Given the description of an element on the screen output the (x, y) to click on. 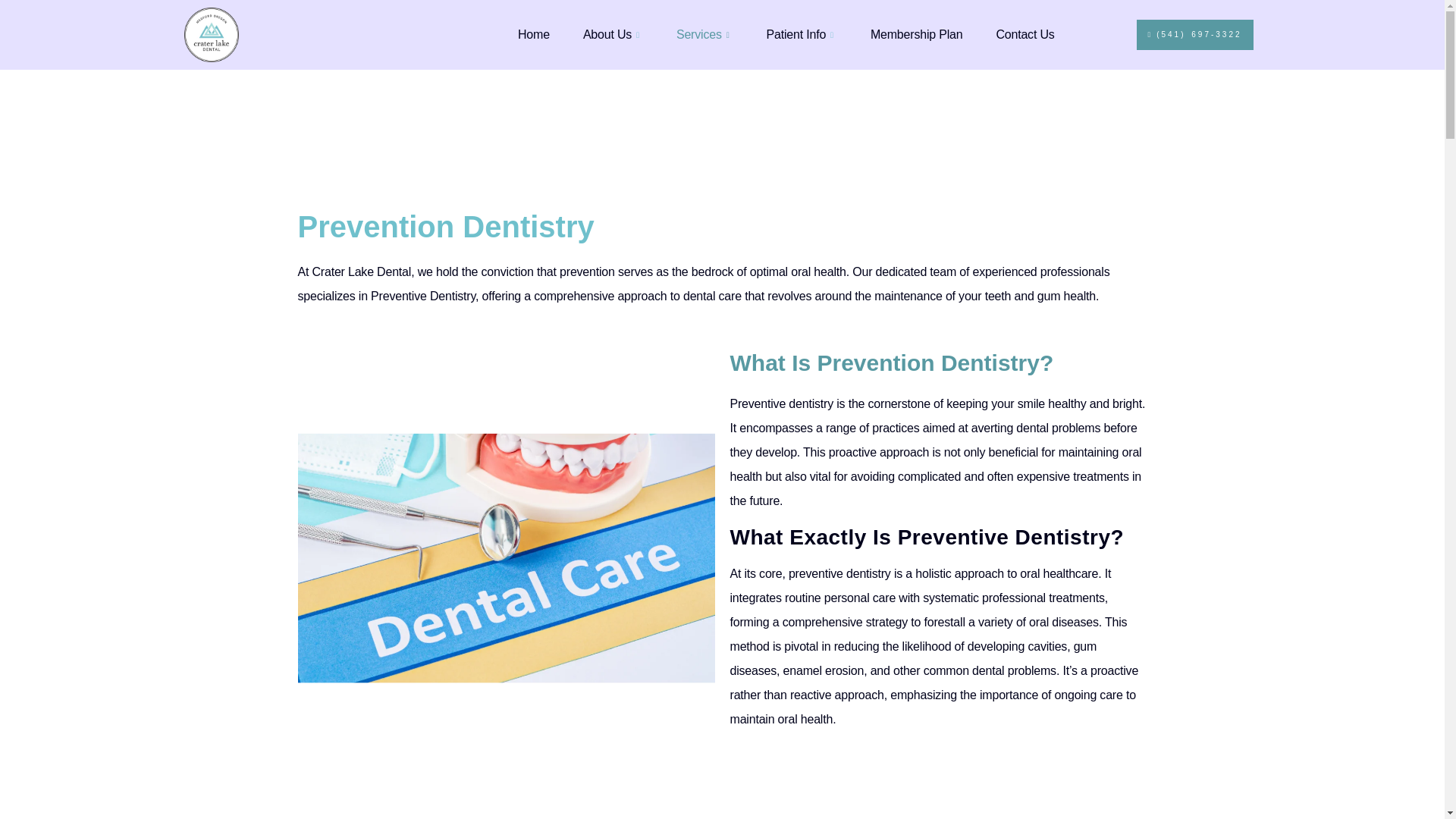
Contact Us (1024, 34)
About Us (612, 34)
Home (533, 34)
Membership Plan (916, 34)
Services (704, 34)
Patient Info (801, 34)
